Given the description of an element on the screen output the (x, y) to click on. 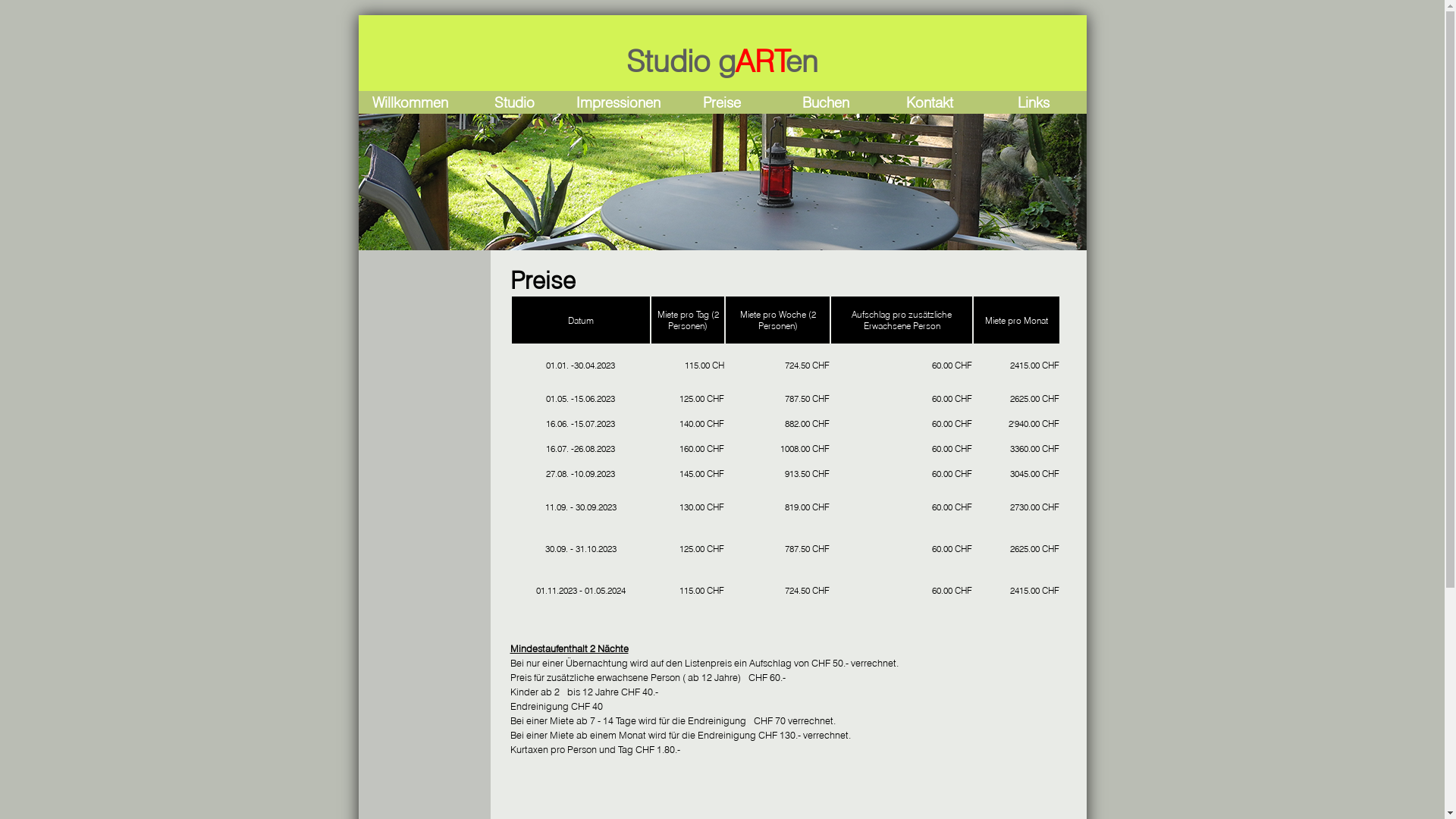
Preise Element type: text (721, 102)
Impressionen Element type: text (618, 102)
Studio gARTen Element type: text (722, 60)
Studio Element type: text (514, 102)
Willkommen Element type: text (410, 102)
Links Element type: text (1033, 102)
Buchen Element type: text (825, 102)
Kontakt Element type: text (929, 102)
